Given the description of an element on the screen output the (x, y) to click on. 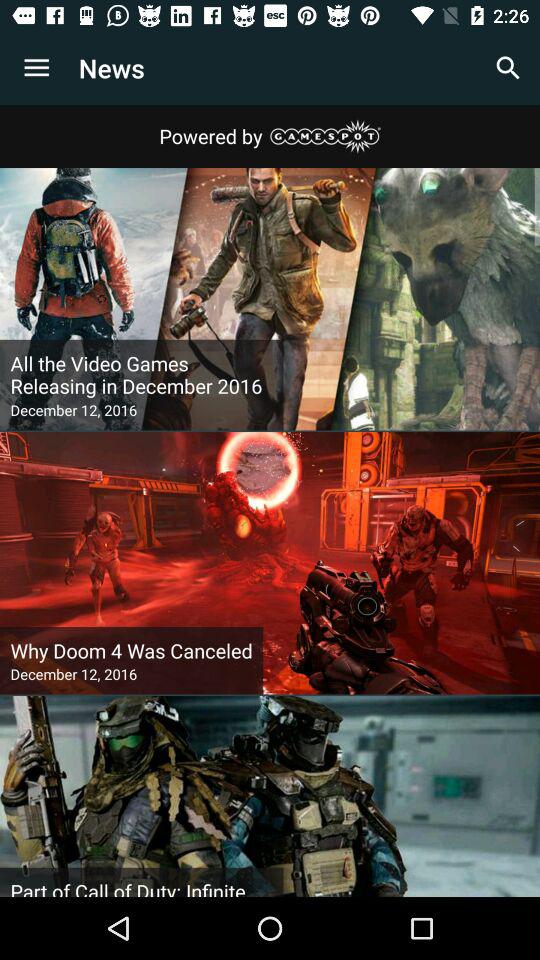
turn off part of call (141, 887)
